Given the description of an element on the screen output the (x, y) to click on. 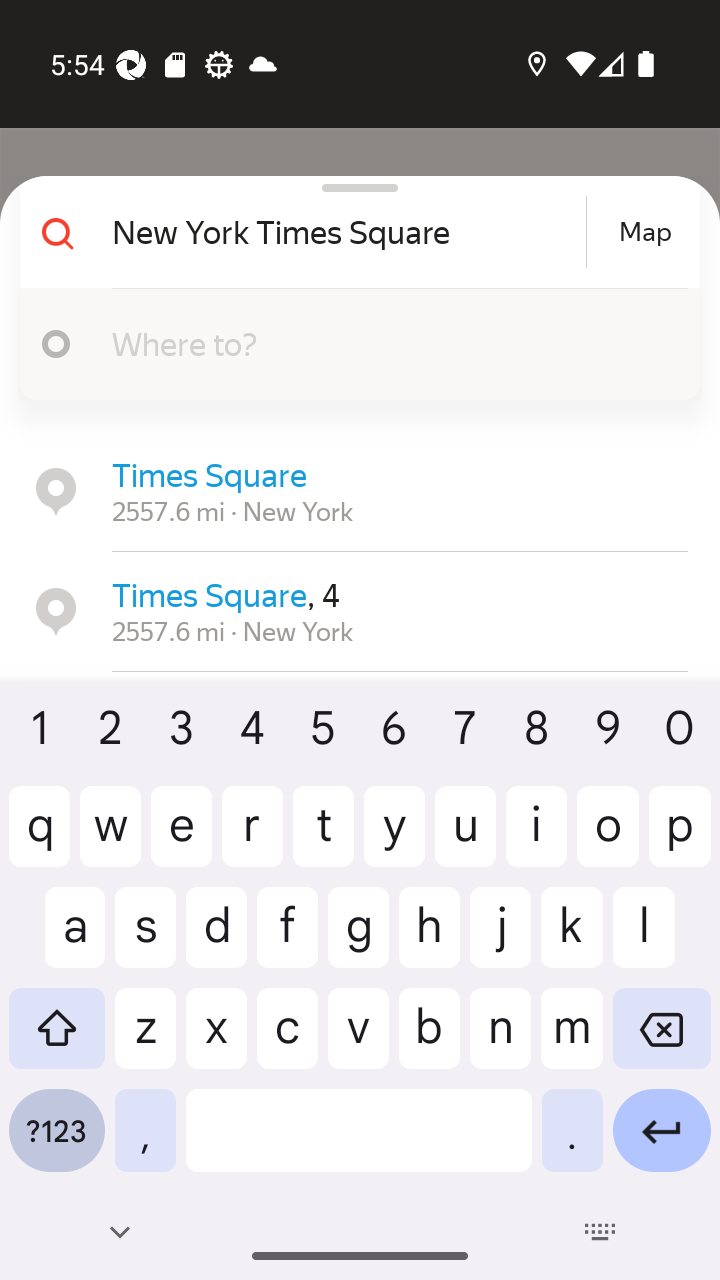
New York Times Square Map Map (352, 232)
Map (645, 232)
New York Times Square (346, 232)
Where to? (352, 343)
Where to? (390, 343)
